Given the description of an element on the screen output the (x, y) to click on. 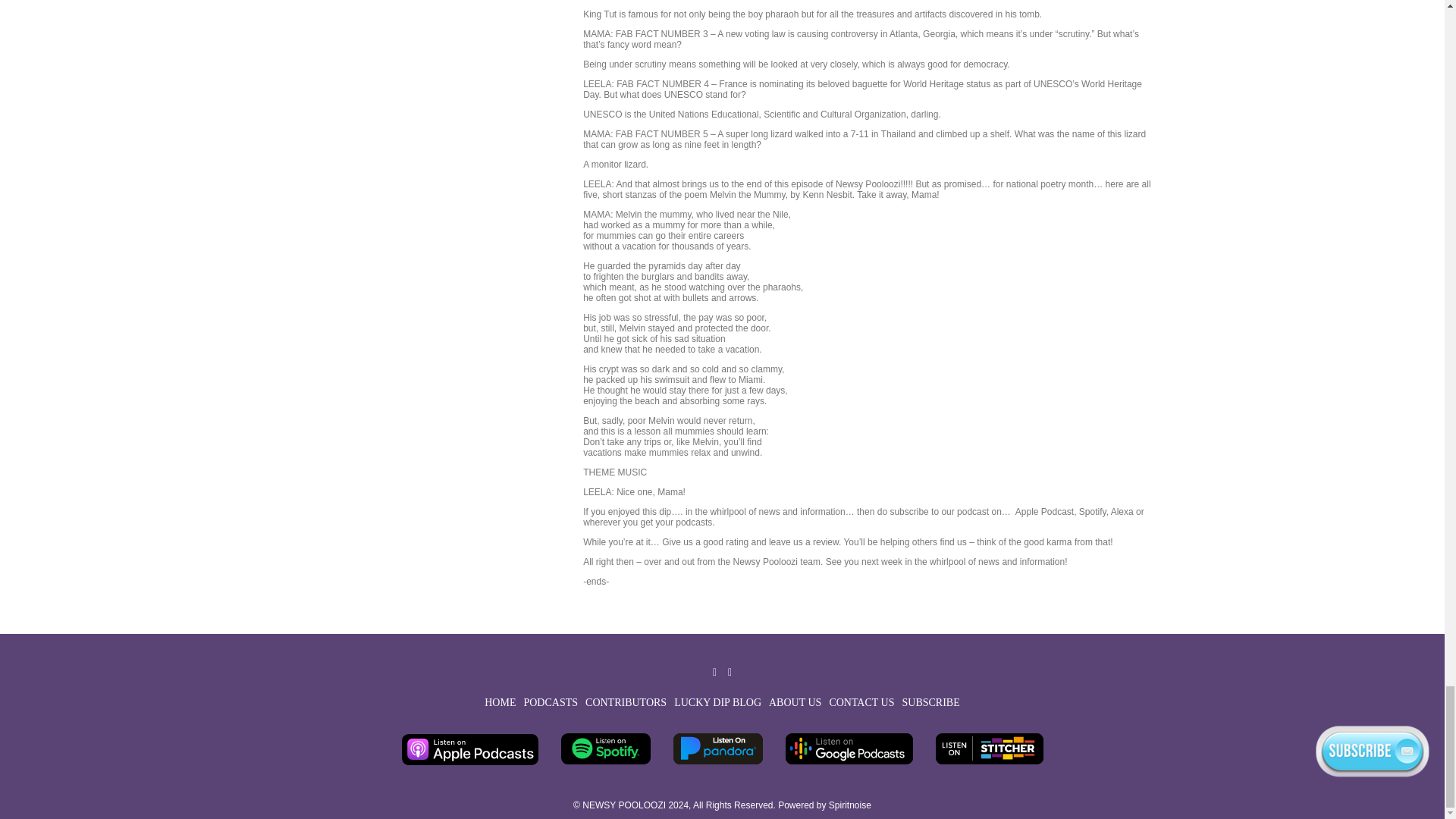
LUCKY DIP BLOG (717, 702)
Spiritnoise (849, 805)
ABOUT US (794, 702)
SUBSCRIBE (930, 702)
CONTACT US (860, 702)
PODCASTS (550, 702)
CONTRIBUTORS (625, 702)
HOME (499, 702)
